Given the description of an element on the screen output the (x, y) to click on. 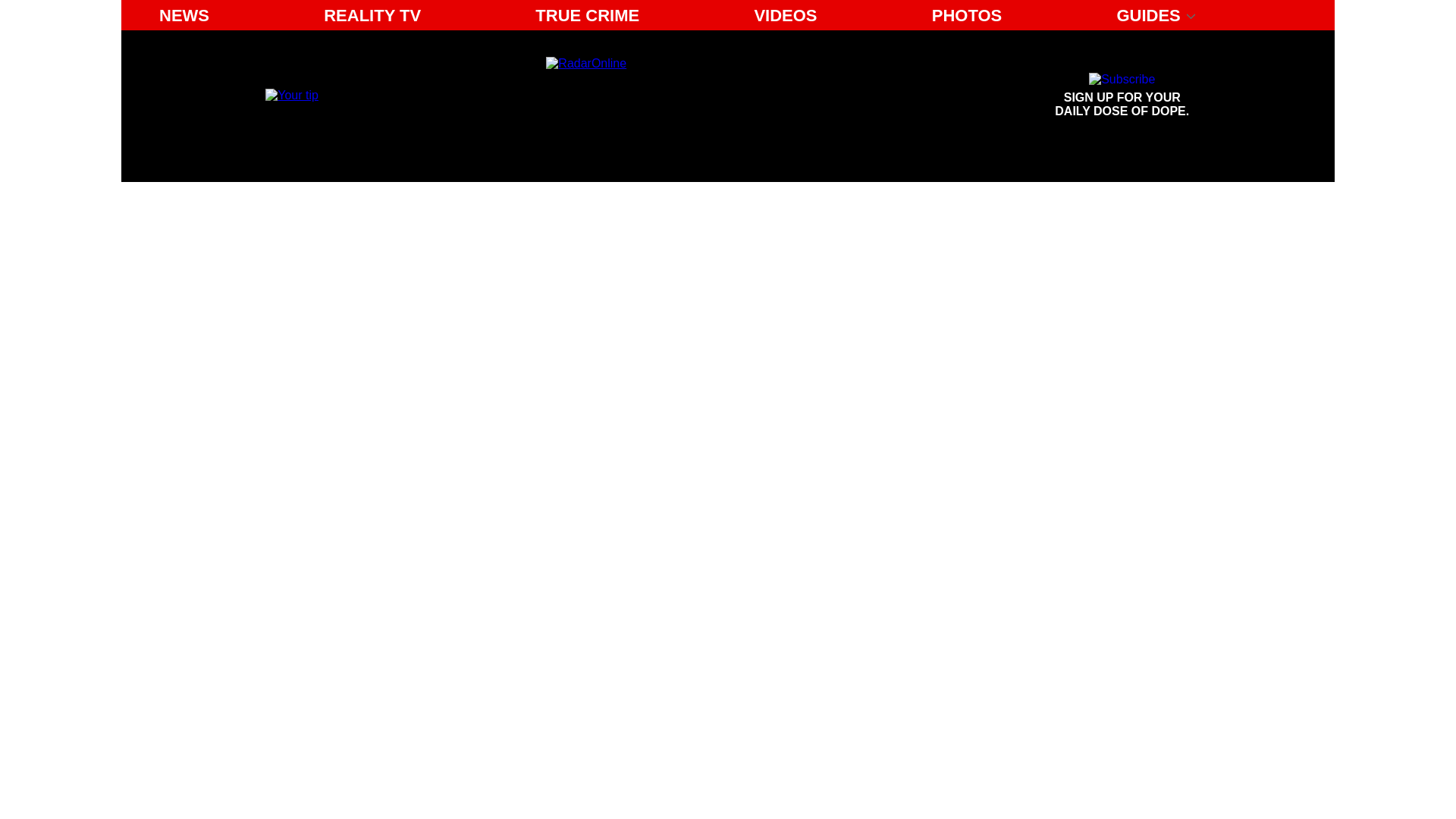
PHOTOS (967, 15)
Radar Online (685, 95)
Sign up for your daily dose of dope. (1122, 94)
TRUE CRIME (1122, 94)
VIDEOS (586, 15)
NEWS (784, 15)
Email us your tip (183, 15)
REALITY TV (291, 94)
